Given the description of an element on the screen output the (x, y) to click on. 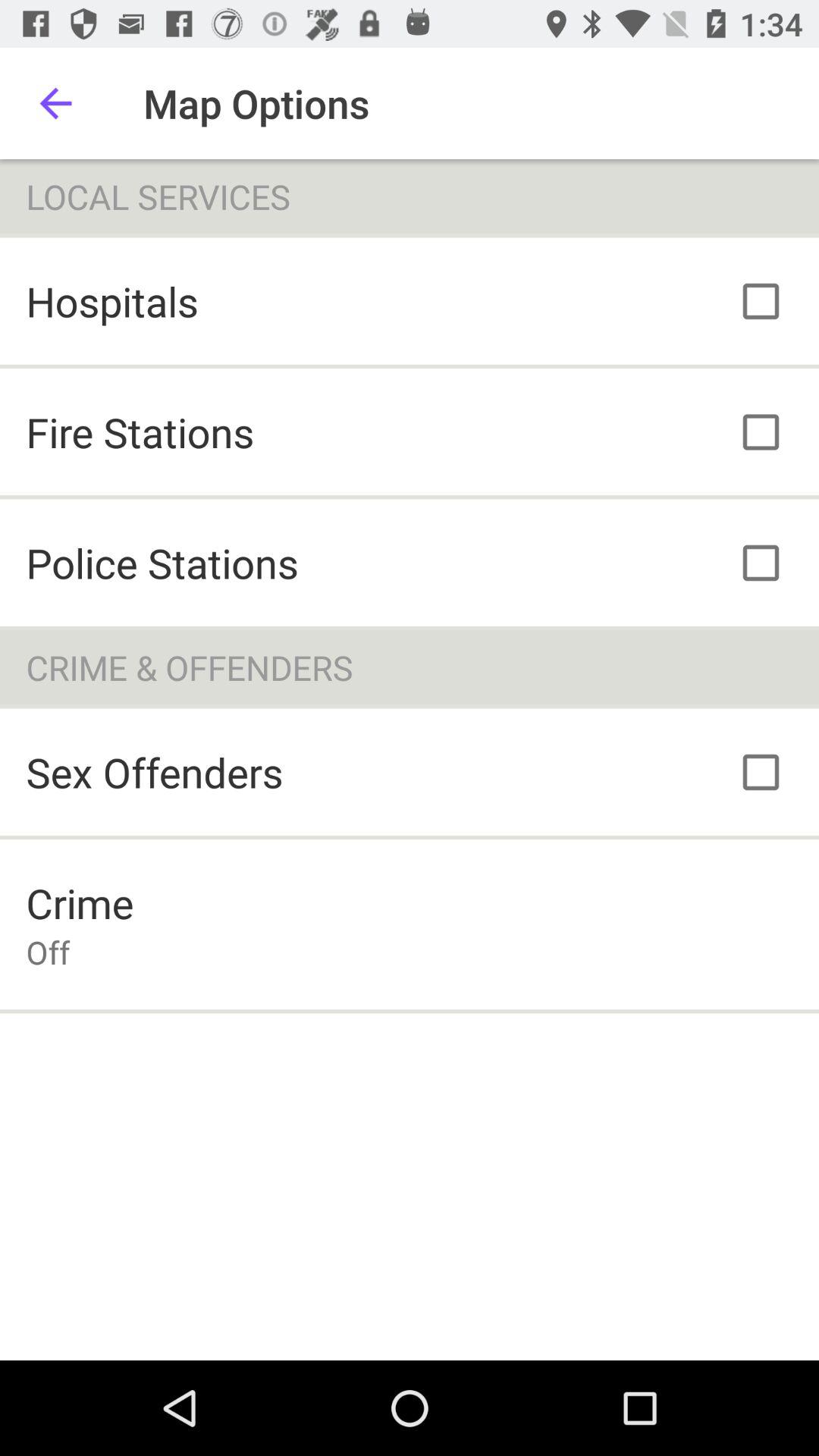
jump until fire stations item (140, 431)
